Given the description of an element on the screen output the (x, y) to click on. 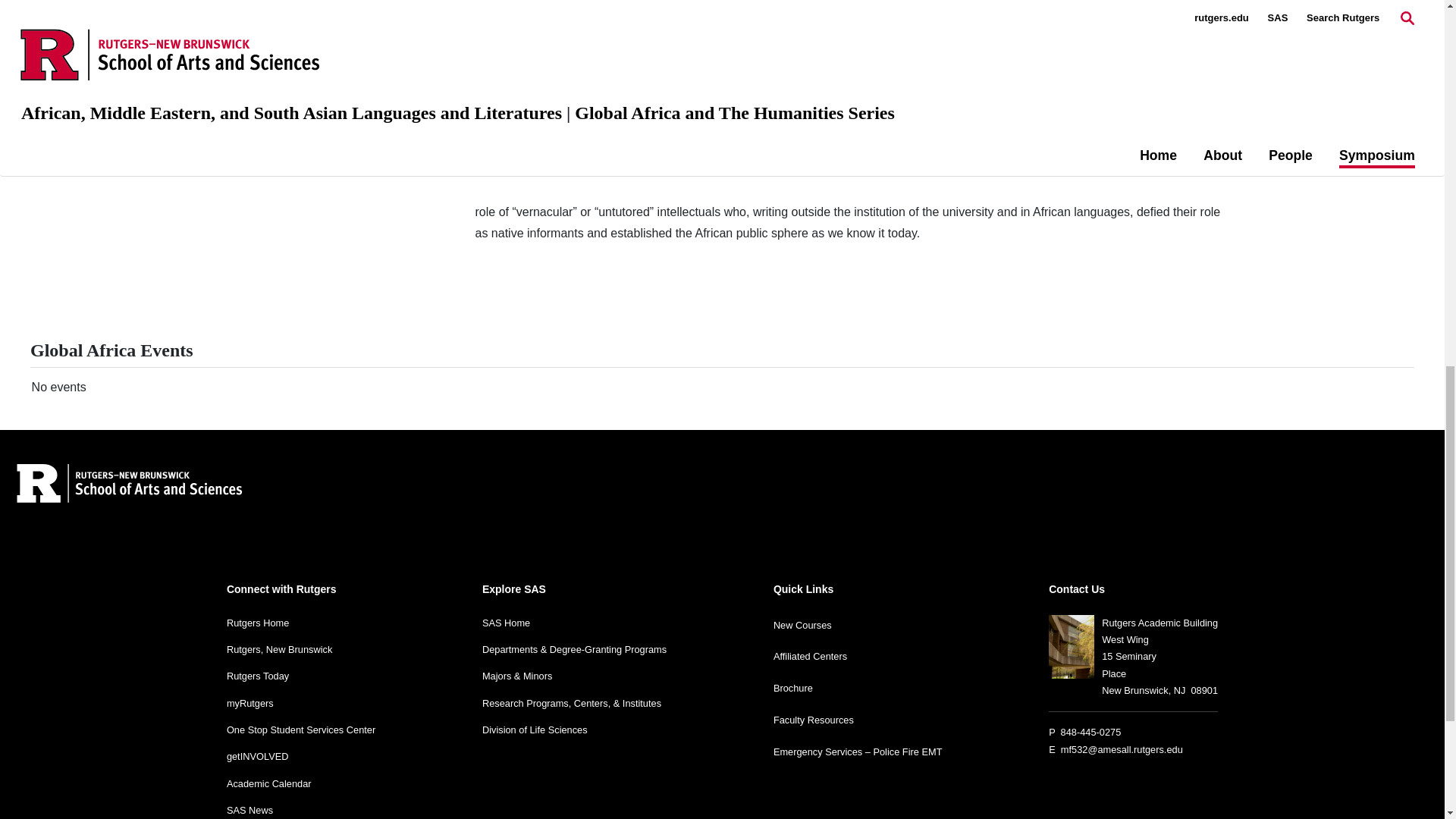
Rutgers, New Brunswick (279, 649)
getINVOLVED (257, 756)
Rutgers Home (258, 622)
One Stop Student Services Center (301, 729)
Rutgers Today (257, 675)
myRutgers (250, 703)
SAS News (250, 809)
Academic Calendar (269, 783)
